Given the description of an element on the screen output the (x, y) to click on. 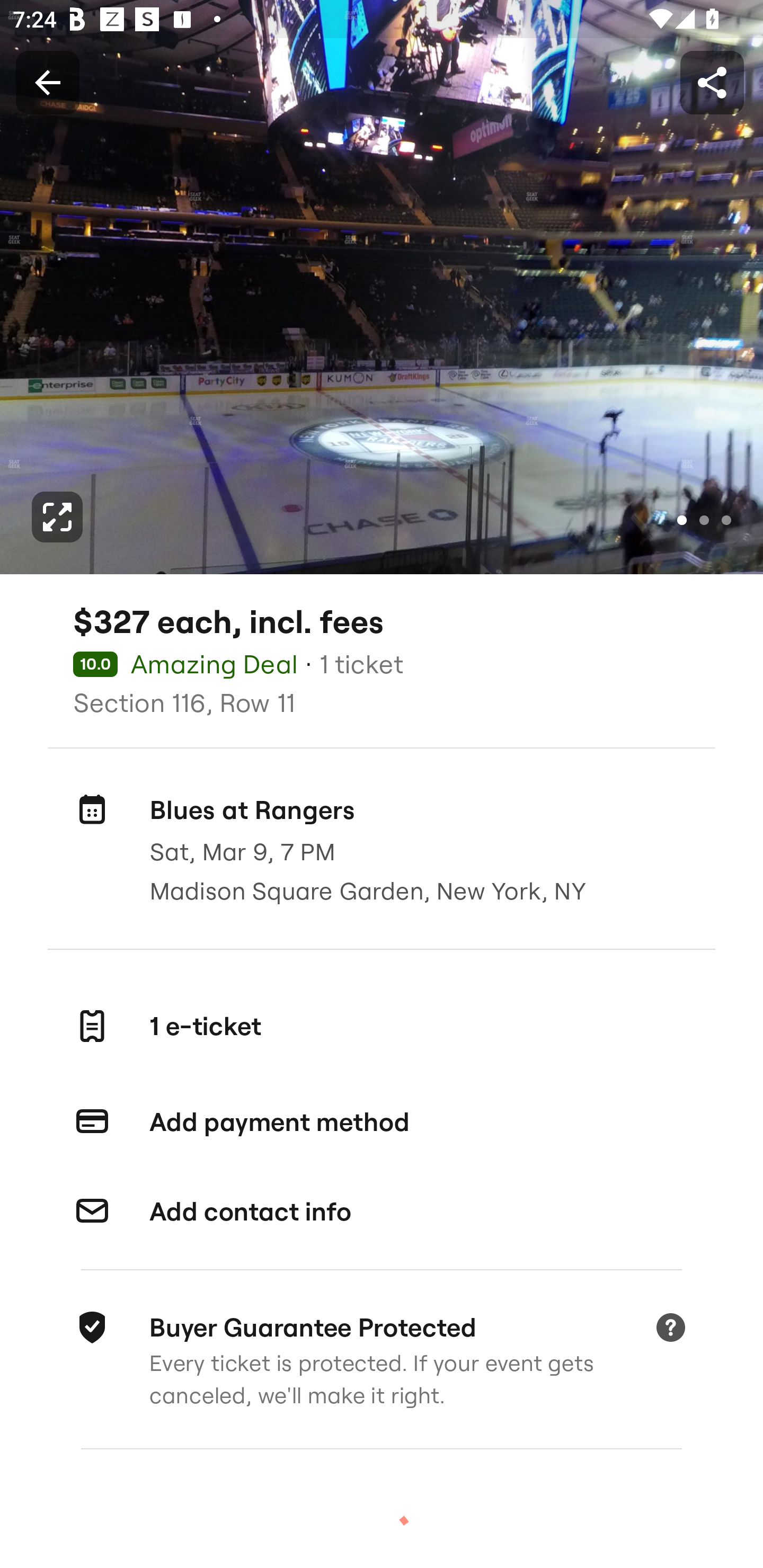
Back (47, 81)
Share (711, 81)
Expand image to fullscreen (57, 517)
1 e-ticket (381, 1026)
Add payment method (381, 1121)
Add contact info (381, 1210)
